Given the description of an element on the screen output the (x, y) to click on. 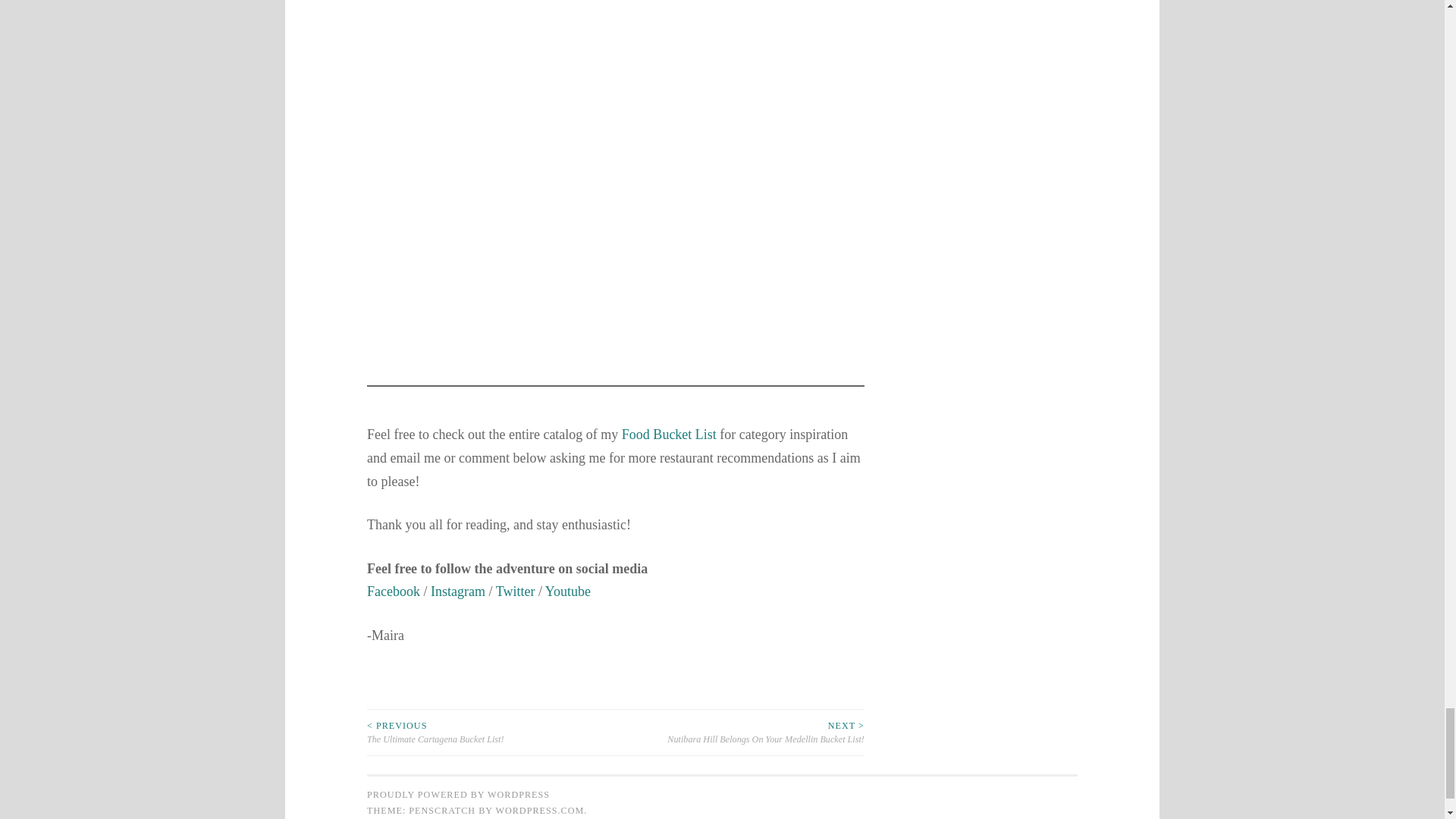
Facebook (393, 590)
Food Bucket List (668, 434)
Instagram (457, 590)
Twitter (515, 590)
Youtube  (569, 590)
